Given the description of an element on the screen output the (x, y) to click on. 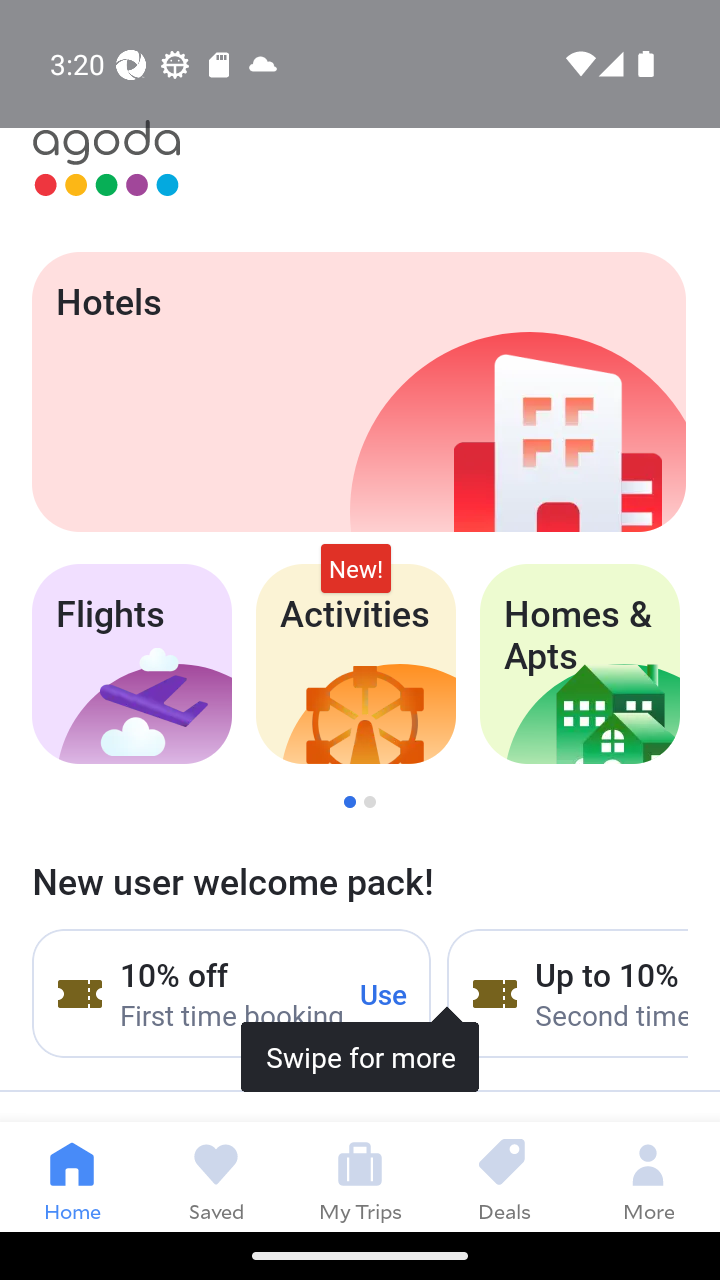
Hotels (358, 392)
New! (355, 568)
Flights (131, 664)
Activities (355, 664)
Homes & Apts (579, 664)
Swipe for more (360, 957)
Home (72, 1176)
Saved (216, 1176)
My Trips (360, 1176)
Deals (504, 1176)
More (648, 1176)
